Given the description of an element on the screen output the (x, y) to click on. 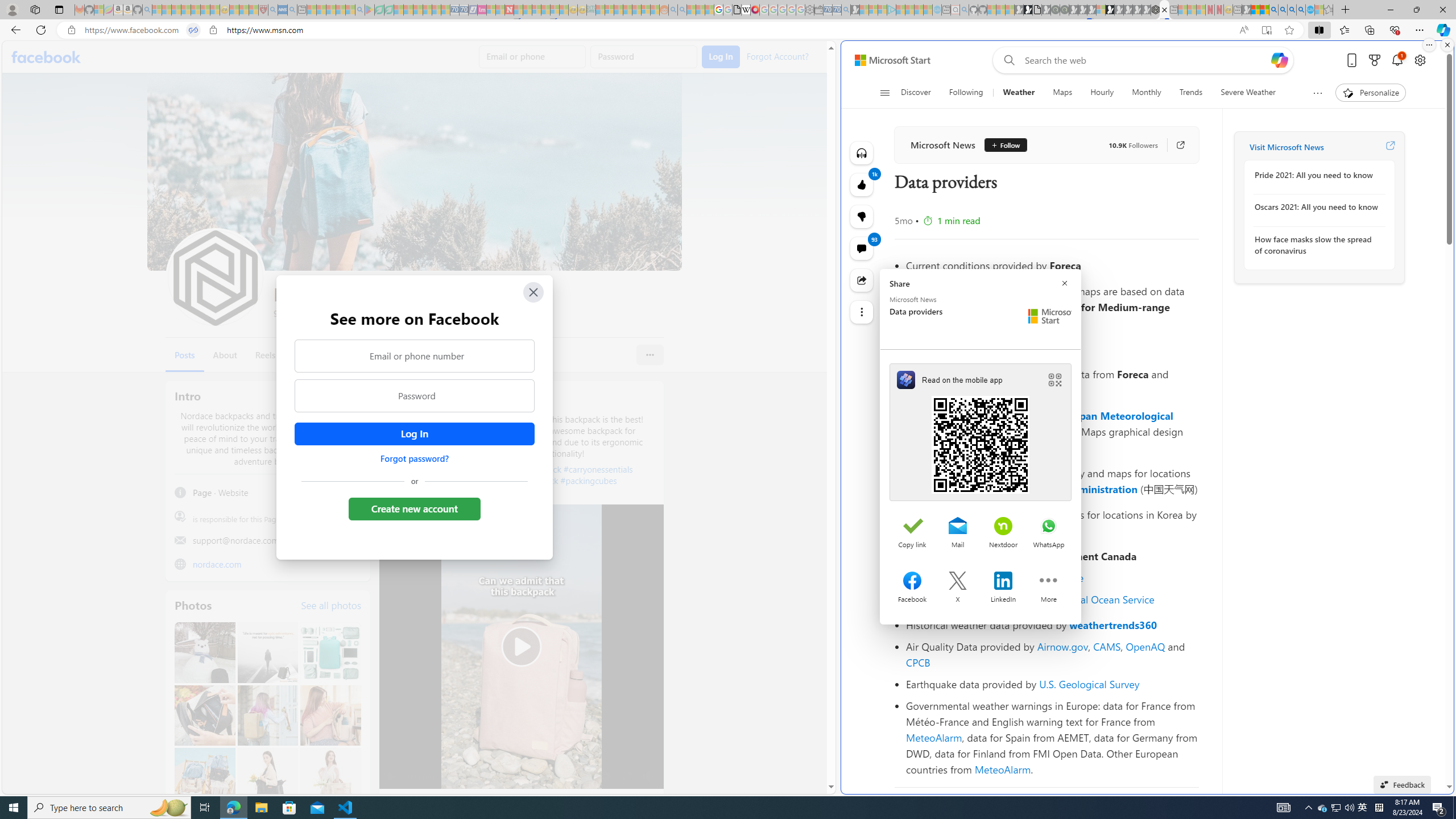
Play Zoo Boom in your browser | Games from Microsoft Start (1027, 9)
Share this story (861, 279)
Follow (1001, 144)
Microsoft Start Logo (1049, 315)
Email or phone (532, 56)
Latest Politics News & Archive | Newsweek.com - Sleeping (508, 9)
Severe Weather (1247, 92)
